Given the description of an element on the screen output the (x, y) to click on. 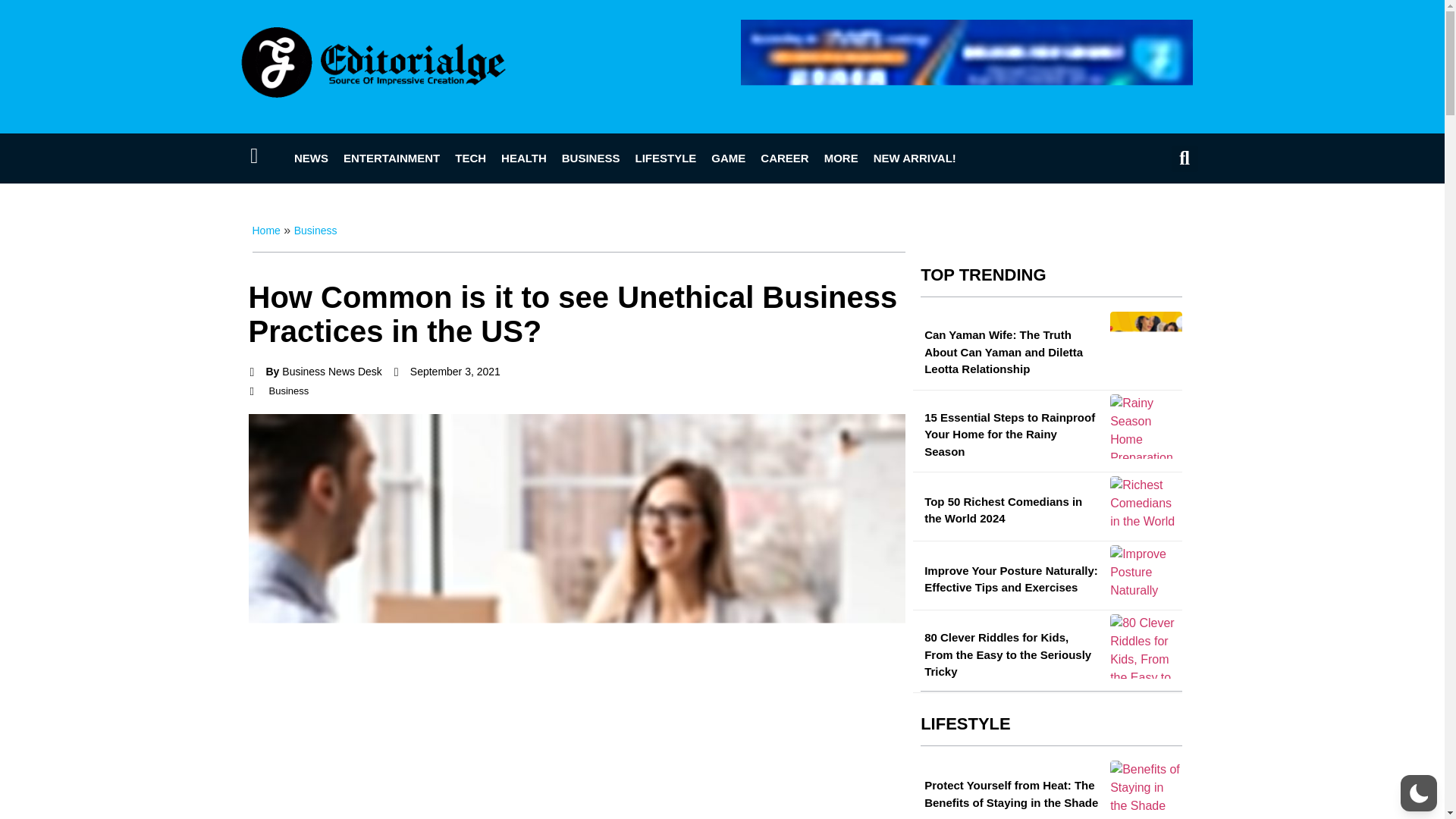
ENTERTAINMENT (391, 158)
BUSINESS (590, 158)
TECH (469, 158)
GAME (727, 158)
HEALTH (523, 158)
NEWS (311, 158)
LIFESTYLE (665, 158)
